Given the description of an element on the screen output the (x, y) to click on. 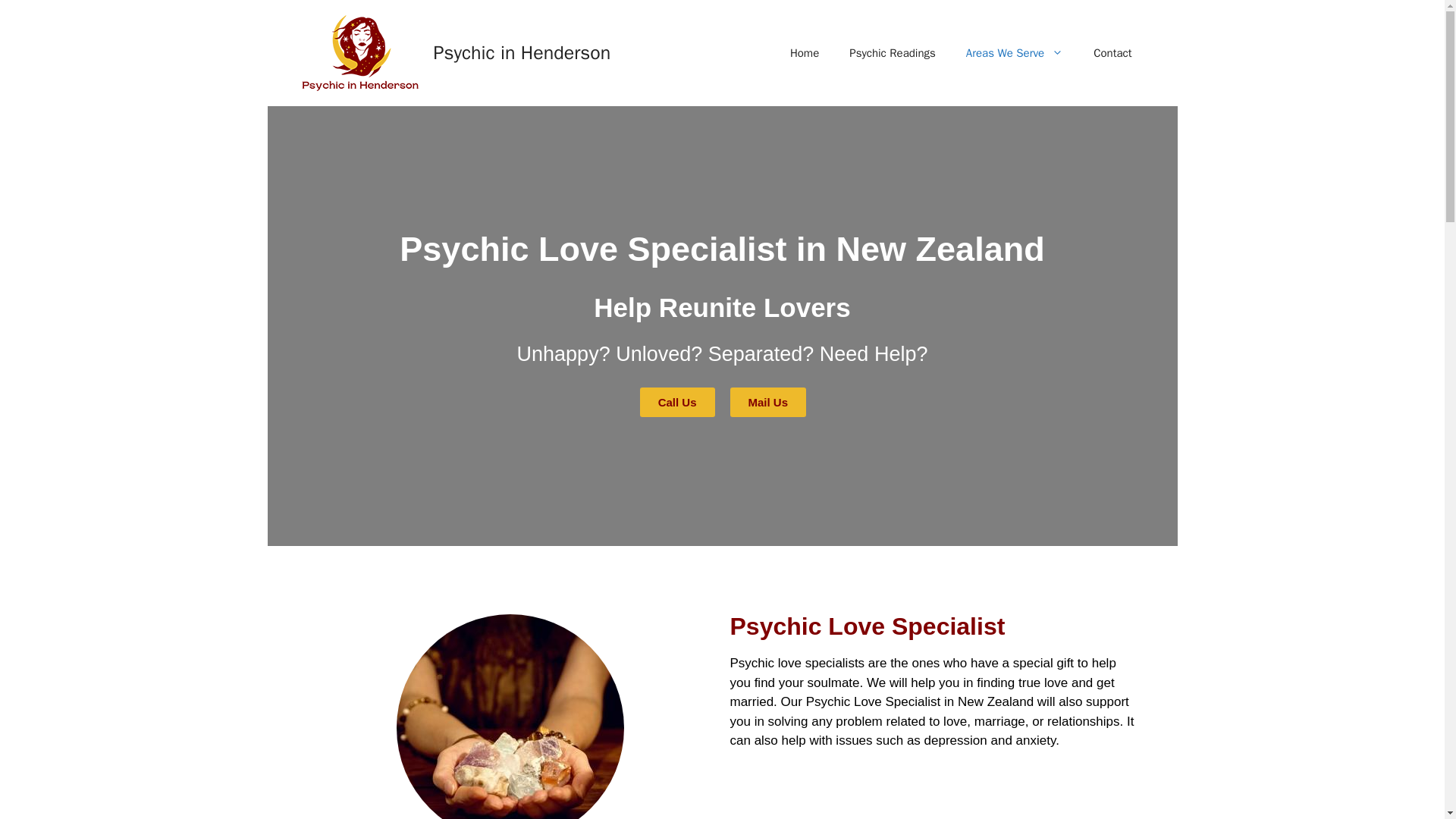
Call Us (677, 401)
Areas We Serve (1014, 53)
Psychic in Henderson (522, 52)
Psychic Readings (892, 53)
Contact (1112, 53)
Home (804, 53)
Mail Us (767, 401)
